Given the description of an element on the screen output the (x, y) to click on. 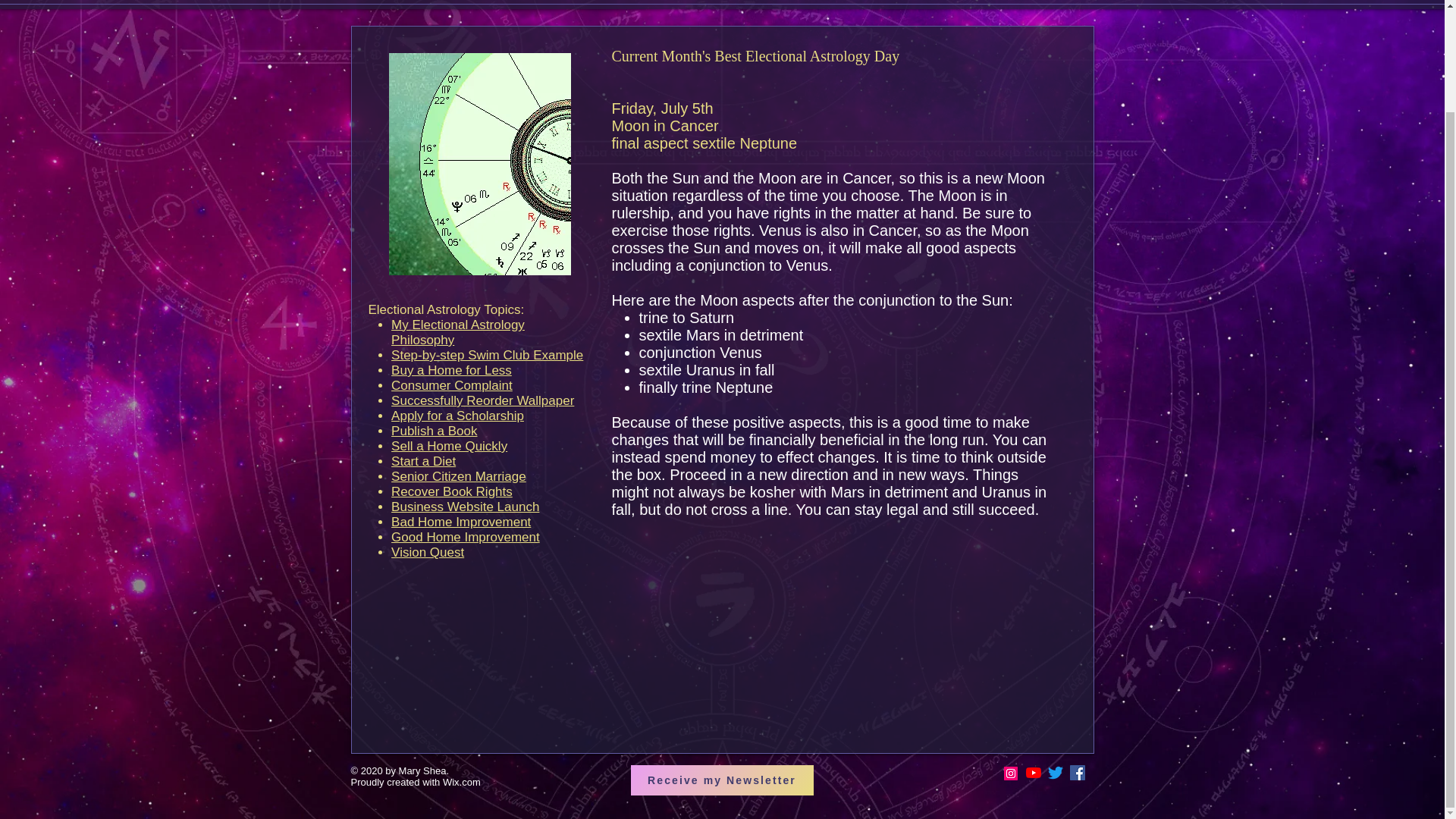
Step-by-step Swim Club Example (487, 355)
Recover Book Rights (451, 491)
Bad Home Improvement (461, 522)
My Electional Astrology Philosophy (457, 332)
Start a Diet (423, 461)
Apply for a Scholarship (457, 415)
Good Home Improvement (465, 536)
Consumer Complaint (451, 385)
Publish a Book (434, 431)
Vision Quest (427, 552)
Receive my Newsletter (721, 779)
Senior Citizen Marriage (458, 476)
Buy a Home for Less (451, 370)
Sell a Home Quickly (448, 445)
Business Website Launch (464, 506)
